Given the description of an element on the screen output the (x, y) to click on. 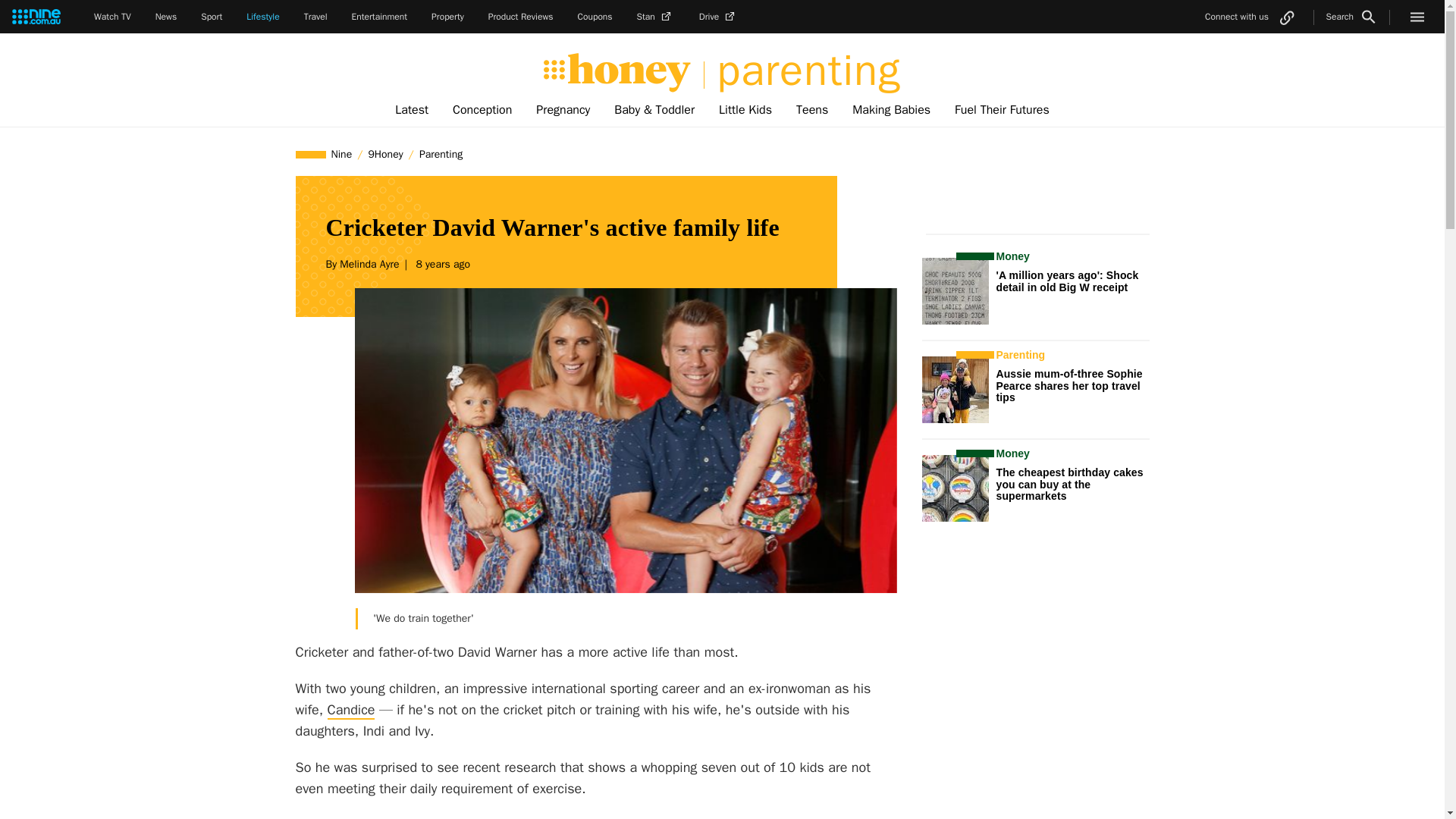
Teens (812, 109)
Nine (342, 154)
Entertainment (379, 16)
Fuel Their Futures (1001, 109)
Watch TV (112, 16)
Stan (656, 16)
Making Babies (891, 109)
Little Kids (745, 109)
Candice (351, 710)
Parenting (440, 154)
